Given the description of an element on the screen output the (x, y) to click on. 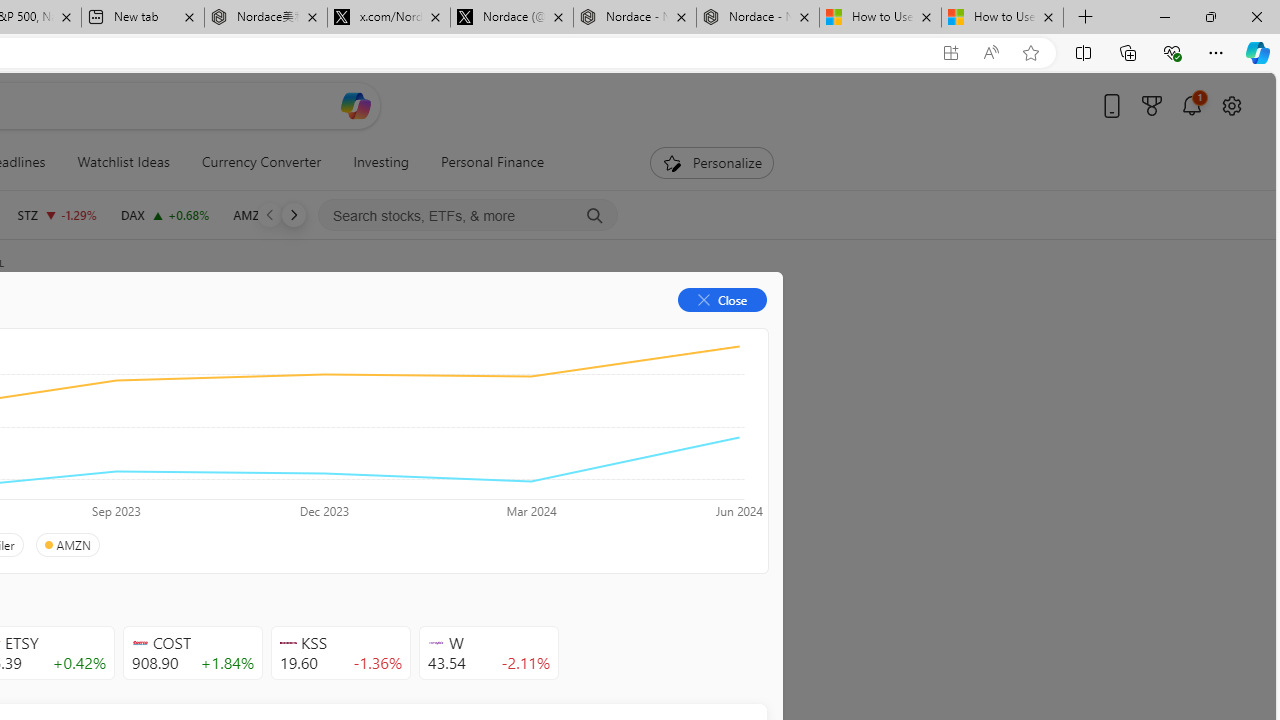
Efficiency (216, 445)
Watchlist Ideas (123, 162)
Investors (495, 331)
Personal Finance (484, 162)
Currency Converter (261, 162)
DAX DAX increase 18,808.50 +126.69 +0.68% (164, 214)
Summary (107, 331)
Financials (209, 331)
